Given the description of an element on the screen output the (x, y) to click on. 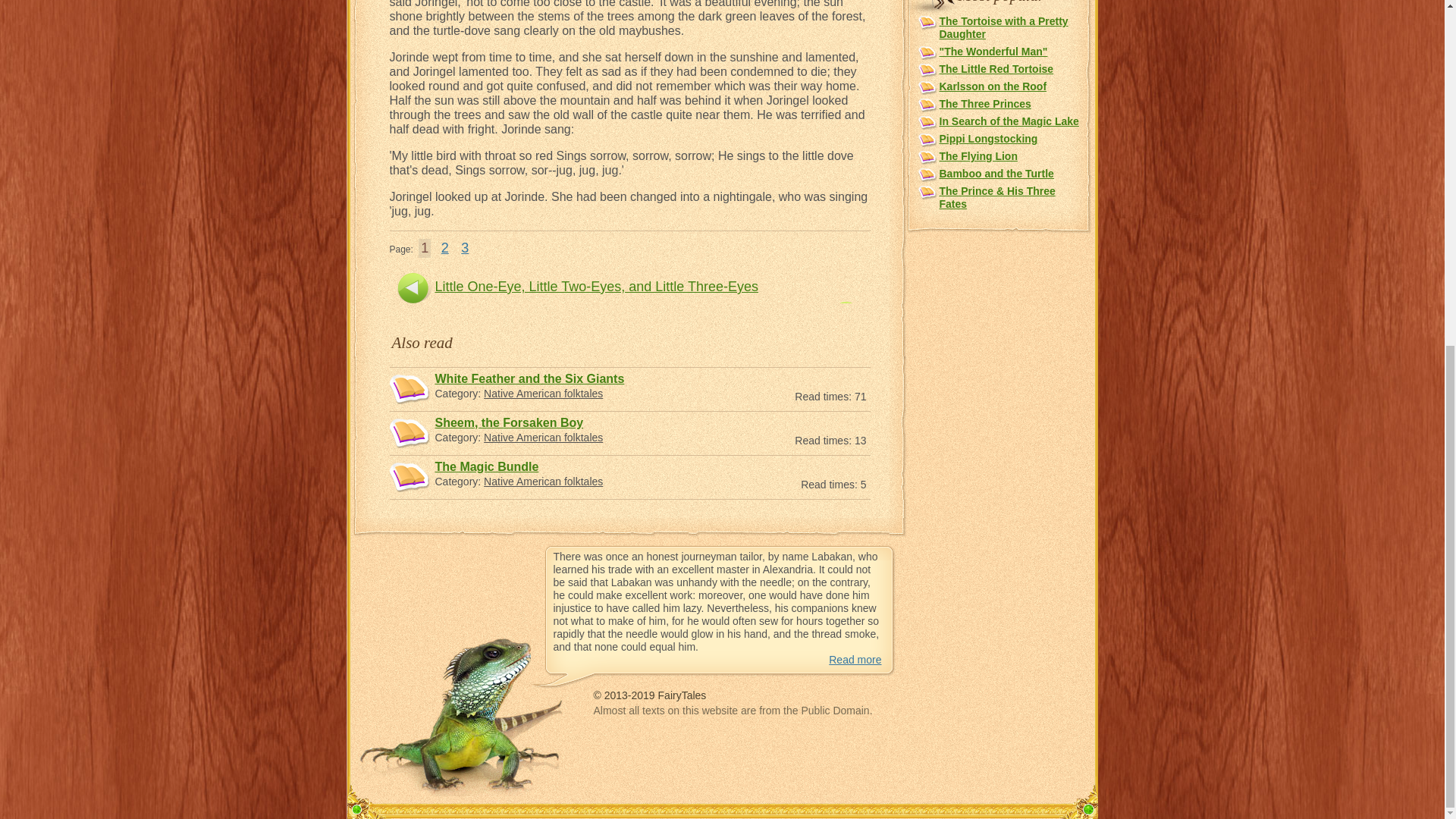
Little One-Eye, Little Two-Eyes, and Little Three-Eyes (596, 286)
Pippi Longstocking (987, 138)
Allerleirauh; or, the Many-Furred Creature (698, 314)
The Three Princes (984, 103)
Bamboo and the Turtle (995, 173)
The Tortoise with a Pretty Daughter (1003, 27)
The Little Red Tortoise (995, 69)
LiveInternet (892, 736)
The Flying Lion (977, 155)
In Search of the Magic Lake (1008, 121)
Karlsson on the Roof (992, 86)
"The Wonderful Man" (992, 51)
